Given the description of an element on the screen output the (x, y) to click on. 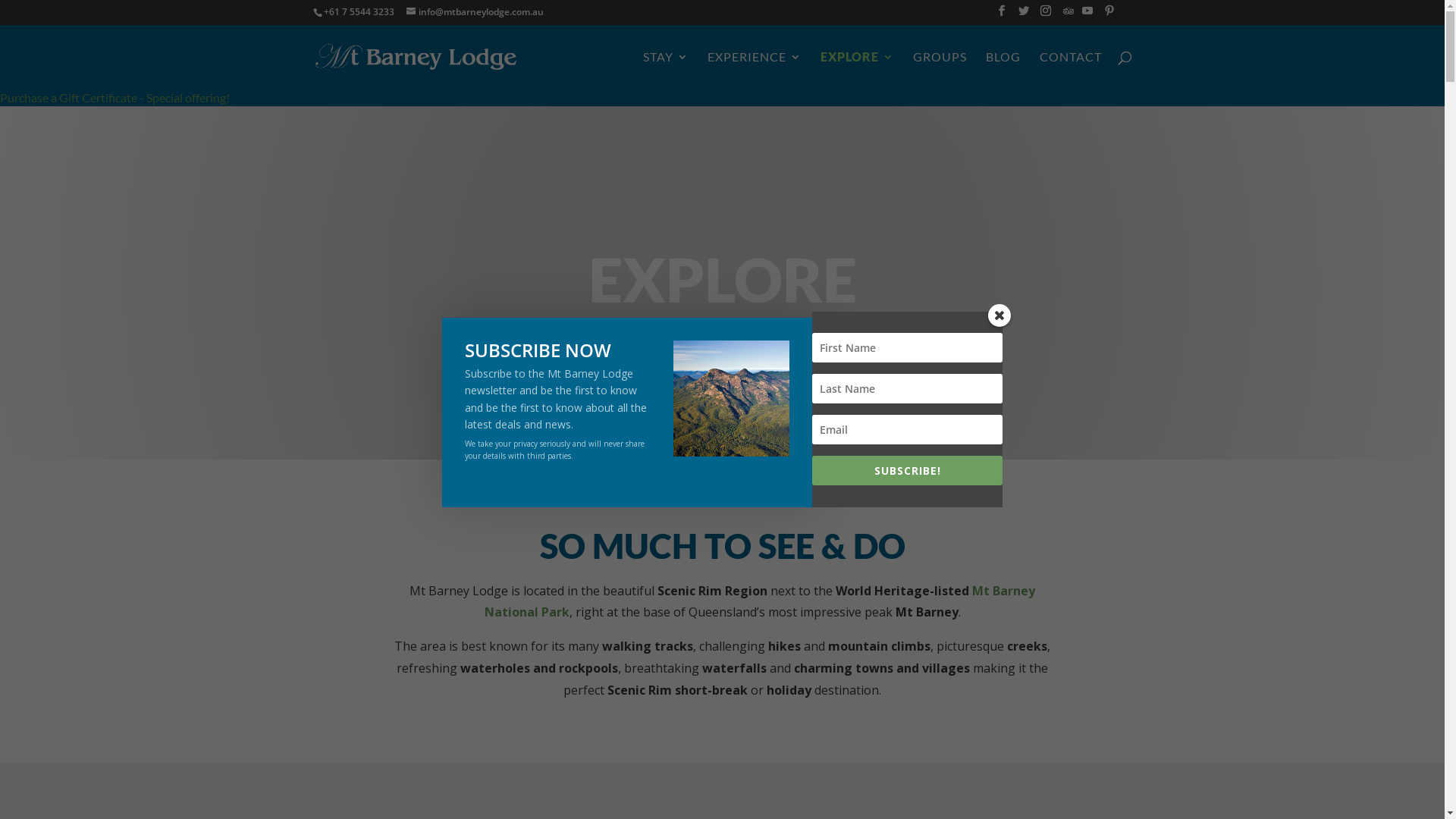
BLOG Element type: text (1002, 69)
Mt Barney National Park Element type: text (759, 601)
+61 7 5544 3233 Element type: text (357, 11)
STAY Element type: text (665, 69)
EXPLORE Element type: text (857, 69)
GROUPS Element type: text (939, 69)
CONTACT Element type: text (1069, 69)
Purchase a Gift Certificate - Special offering! Element type: text (114, 96)
info@mtbarneylodge.com.au Element type: text (474, 11)
EXPERIENCE Element type: text (753, 69)
SUBSCRIBE! Element type: text (907, 470)
